Given the description of an element on the screen output the (x, y) to click on. 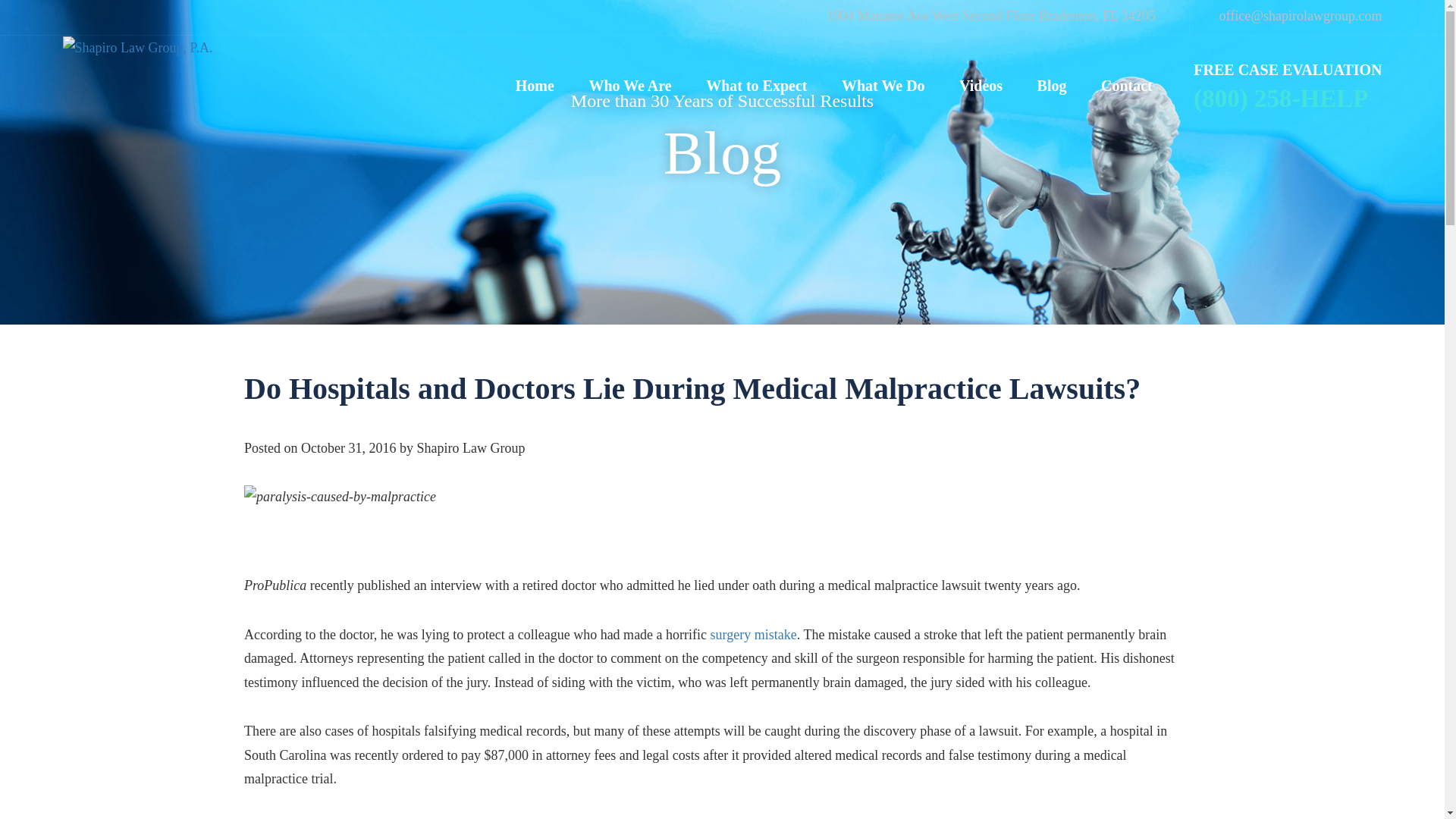
surgery mistake (753, 634)
paralysis-caused-by-malpractice (339, 497)
Who We Are (629, 67)
Shapiro Law Group, P.A. (137, 48)
What We Do (882, 67)
What to Expect (756, 67)
